Given the description of an element on the screen output the (x, y) to click on. 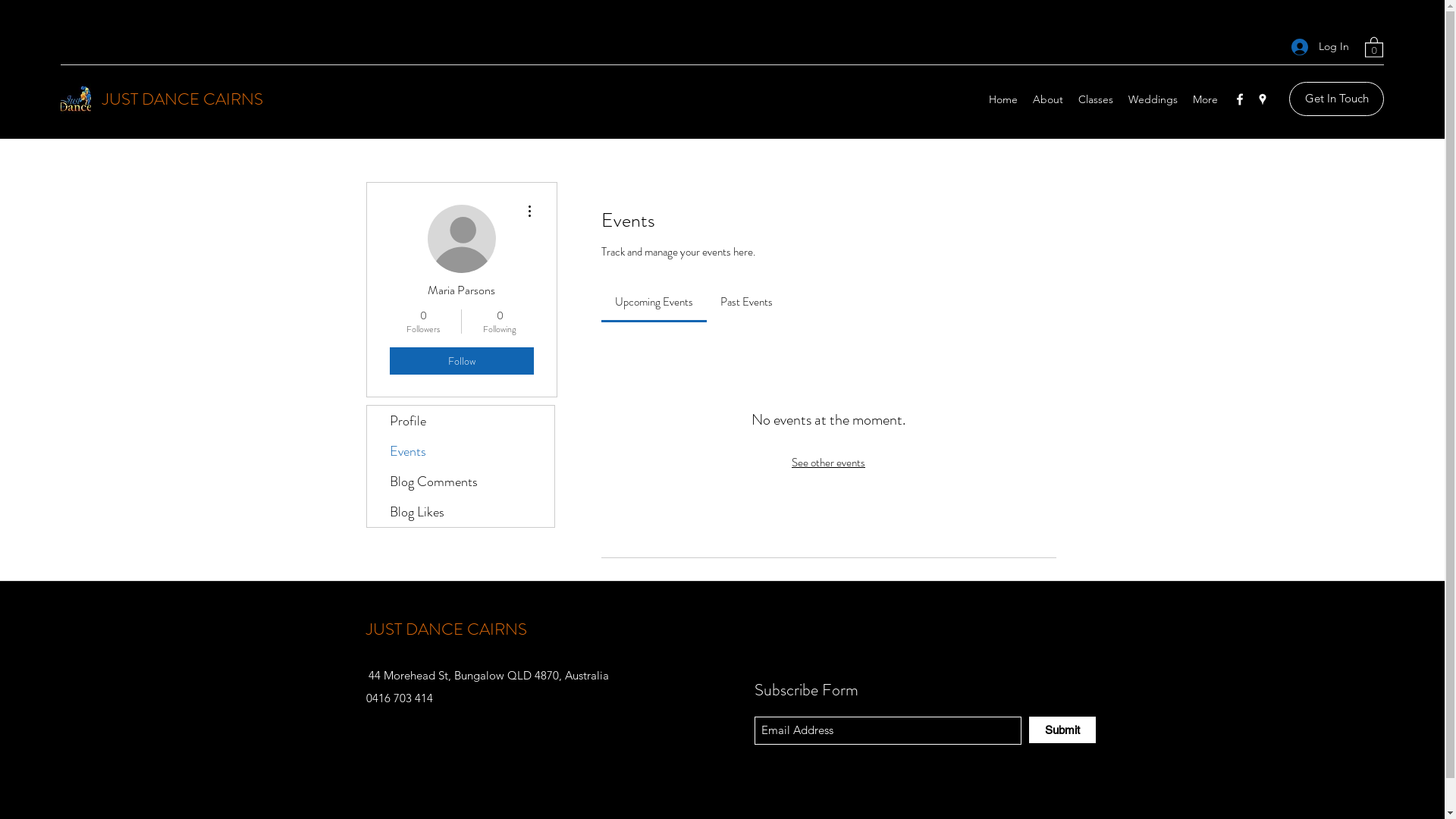
Classes Element type: text (1095, 98)
0 Element type: text (1374, 46)
About Element type: text (1047, 98)
See other events Element type: text (828, 462)
Events Element type: text (460, 451)
Profile Element type: text (460, 420)
0
Followers Element type: text (423, 321)
Submit Element type: text (1061, 729)
0
Following Element type: text (499, 321)
JUST DANCE CAIRNS Element type: text (182, 98)
Home Element type: text (1003, 98)
JUST DANCE CAIRNS Element type: text (445, 628)
Weddings Element type: text (1152, 98)
Log In Element type: text (1319, 46)
Get In Touch Element type: text (1336, 98)
Follow Element type: text (461, 360)
Blog Likes Element type: text (460, 511)
Blog Comments Element type: text (460, 481)
